Given the description of an element on the screen output the (x, y) to click on. 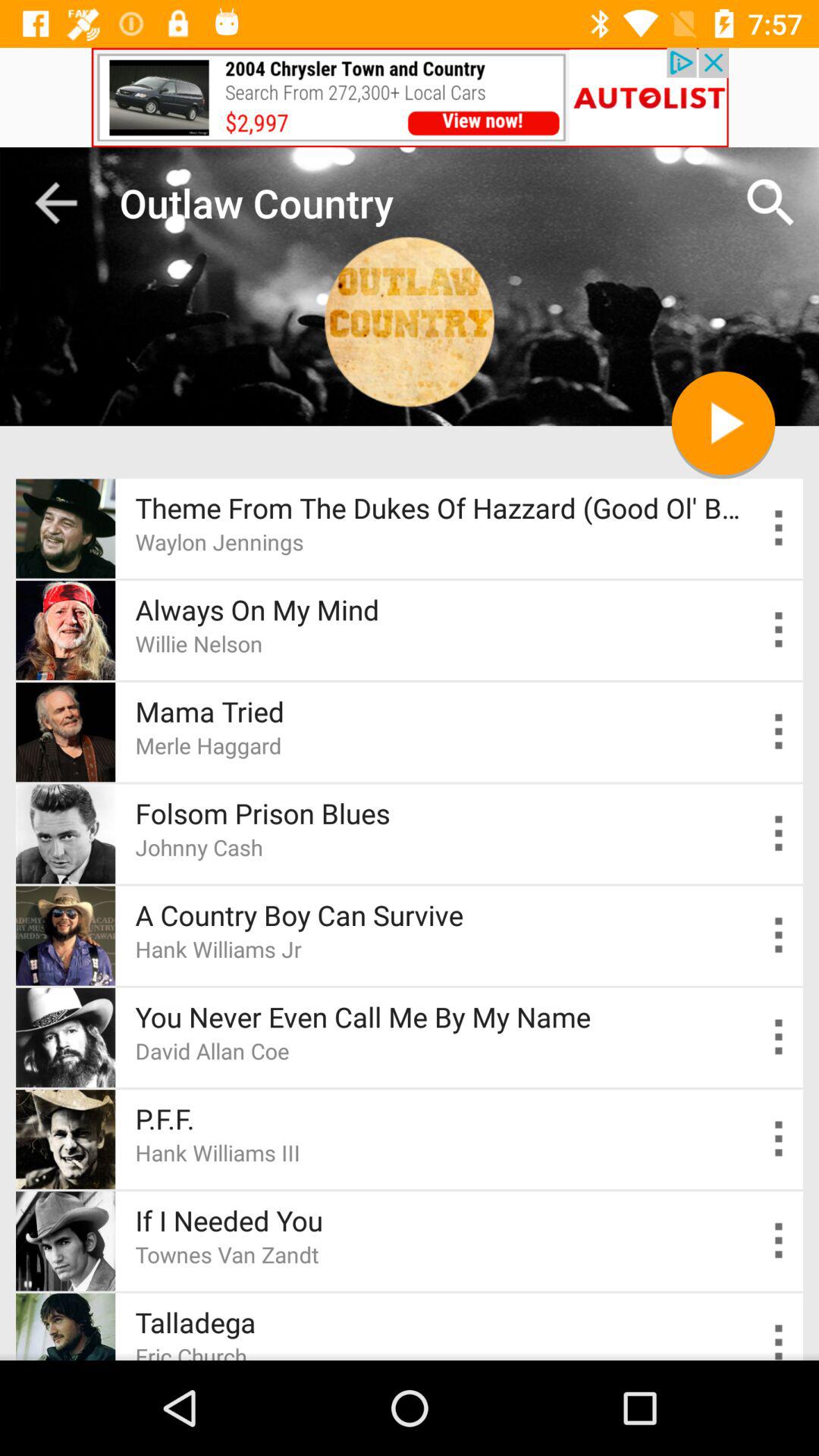
plays song (723, 422)
